Given the description of an element on the screen output the (x, y) to click on. 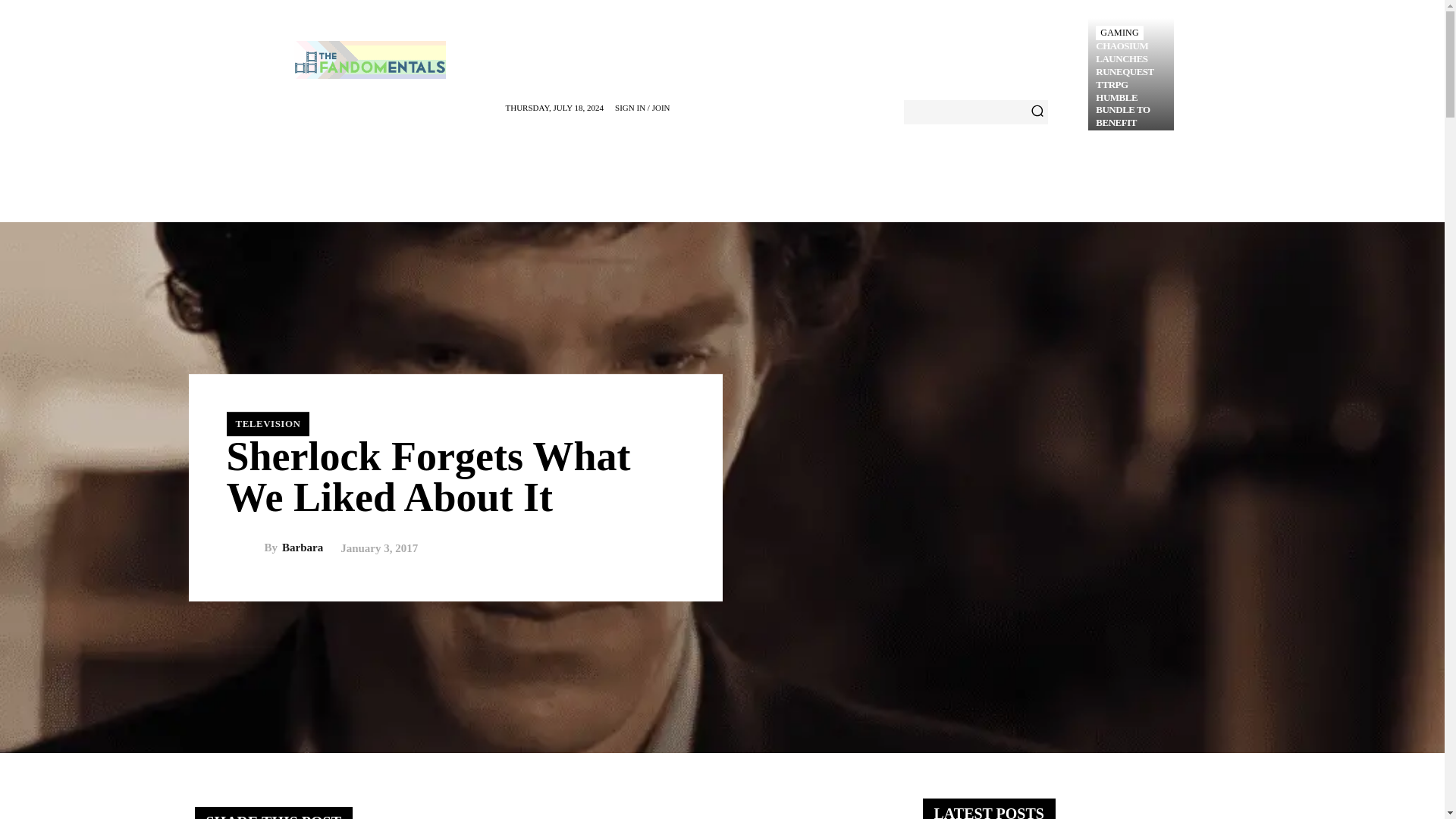
GAMING (1119, 32)
Barbara (244, 548)
